Given the description of an element on the screen output the (x, y) to click on. 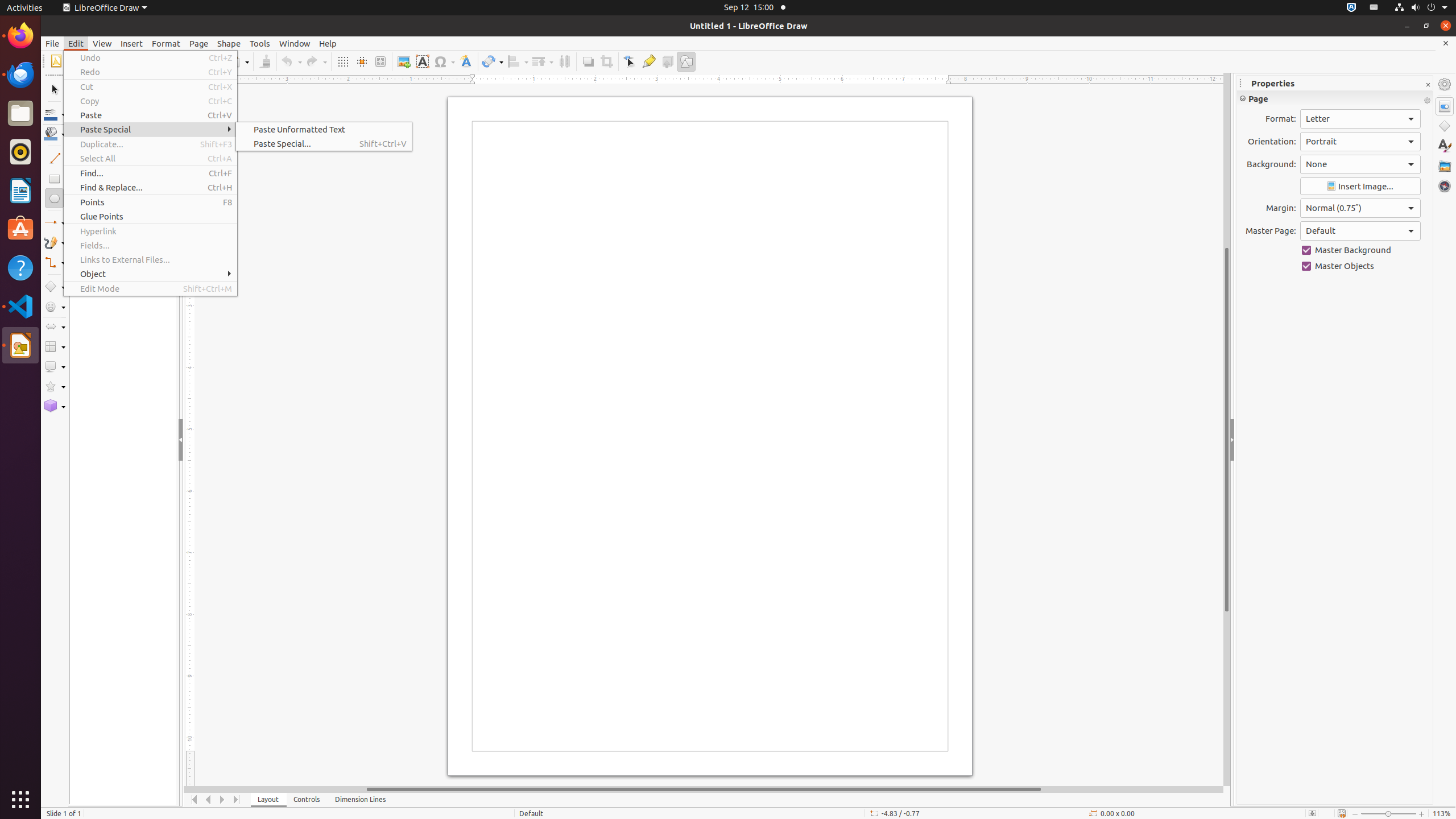
Shadow Element type: toggle-button (587, 61)
Draw Functions Element type: toggle-button (685, 61)
Move Right Element type: push-button (222, 799)
Arrange Element type: push-button (542, 61)
Layout Element type: page-tab (268, 799)
